Given the description of an element on the screen output the (x, y) to click on. 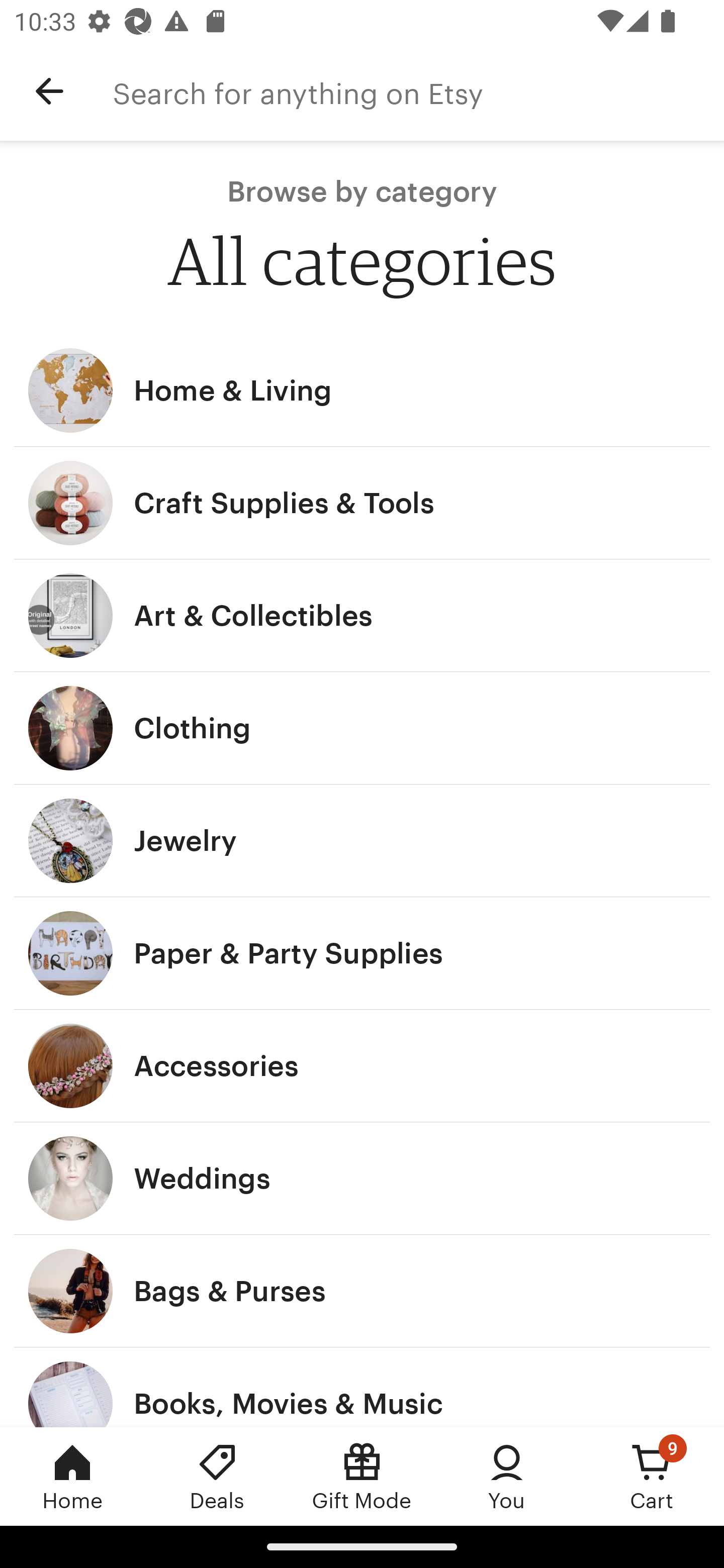
Navigate up (49, 91)
Search for anything on Etsy (418, 91)
Home & Living (361, 389)
Craft Supplies & Tools (361, 502)
Art & Collectibles (361, 615)
Clothing (361, 728)
Jewelry (361, 840)
Paper & Party Supplies (361, 952)
Accessories (361, 1065)
Weddings (361, 1178)
Bags & Purses (361, 1290)
Books, Movies & Music (361, 1386)
Deals (216, 1475)
Gift Mode (361, 1475)
You (506, 1475)
Cart, 9 new notifications Cart (651, 1475)
